Given the description of an element on the screen output the (x, y) to click on. 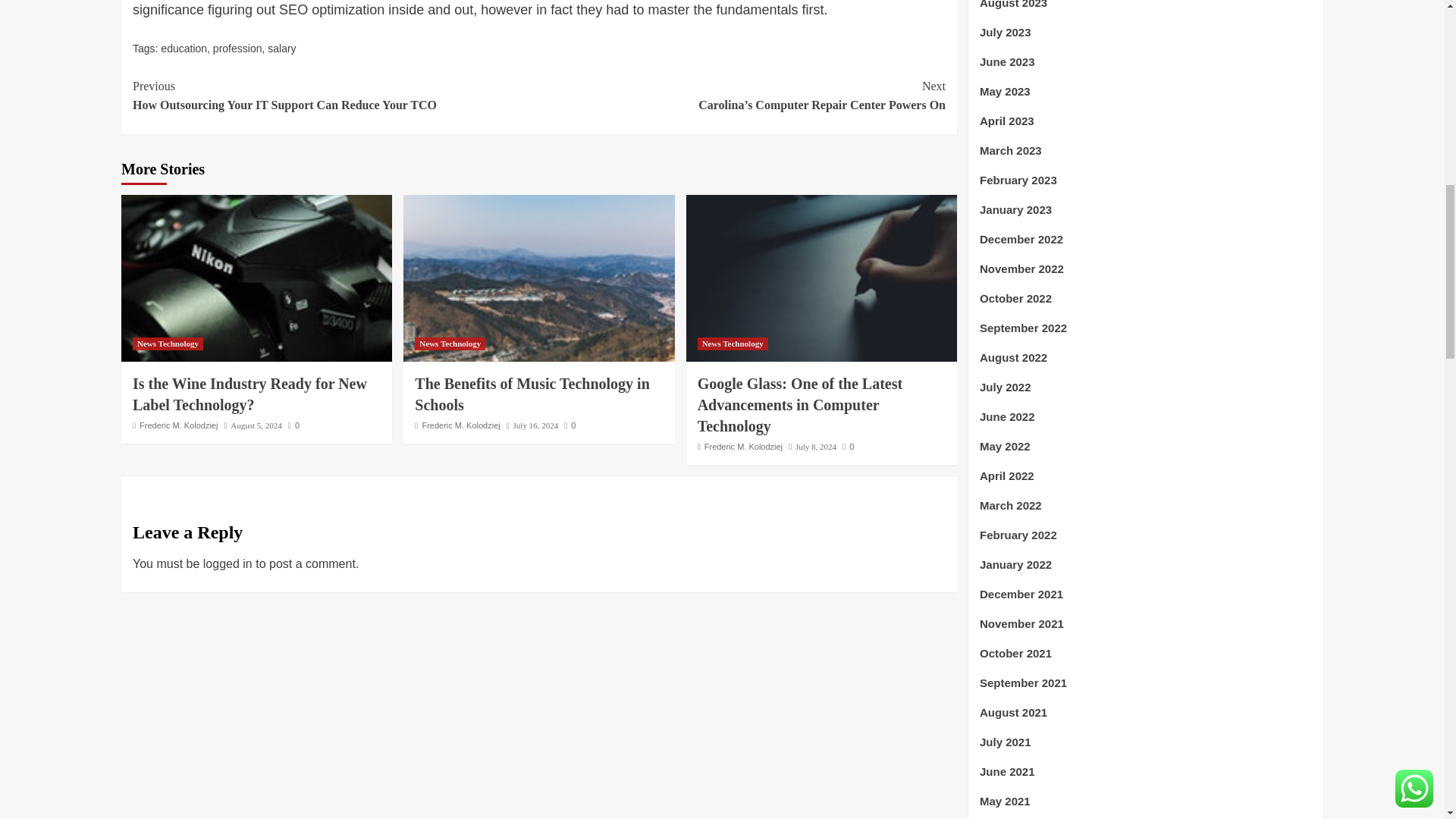
Frederic M. Kolodziej (177, 424)
0 (569, 424)
News Technology (449, 343)
0 (293, 424)
Frederic M. Kolodziej (460, 424)
education (183, 48)
Is the Wine Industry Ready for New Label Technology? (249, 394)
The Benefits of Music Technology in Schools (531, 394)
The Benefits of Music Technology in Schools (538, 277)
salary (281, 48)
